Given the description of an element on the screen output the (x, y) to click on. 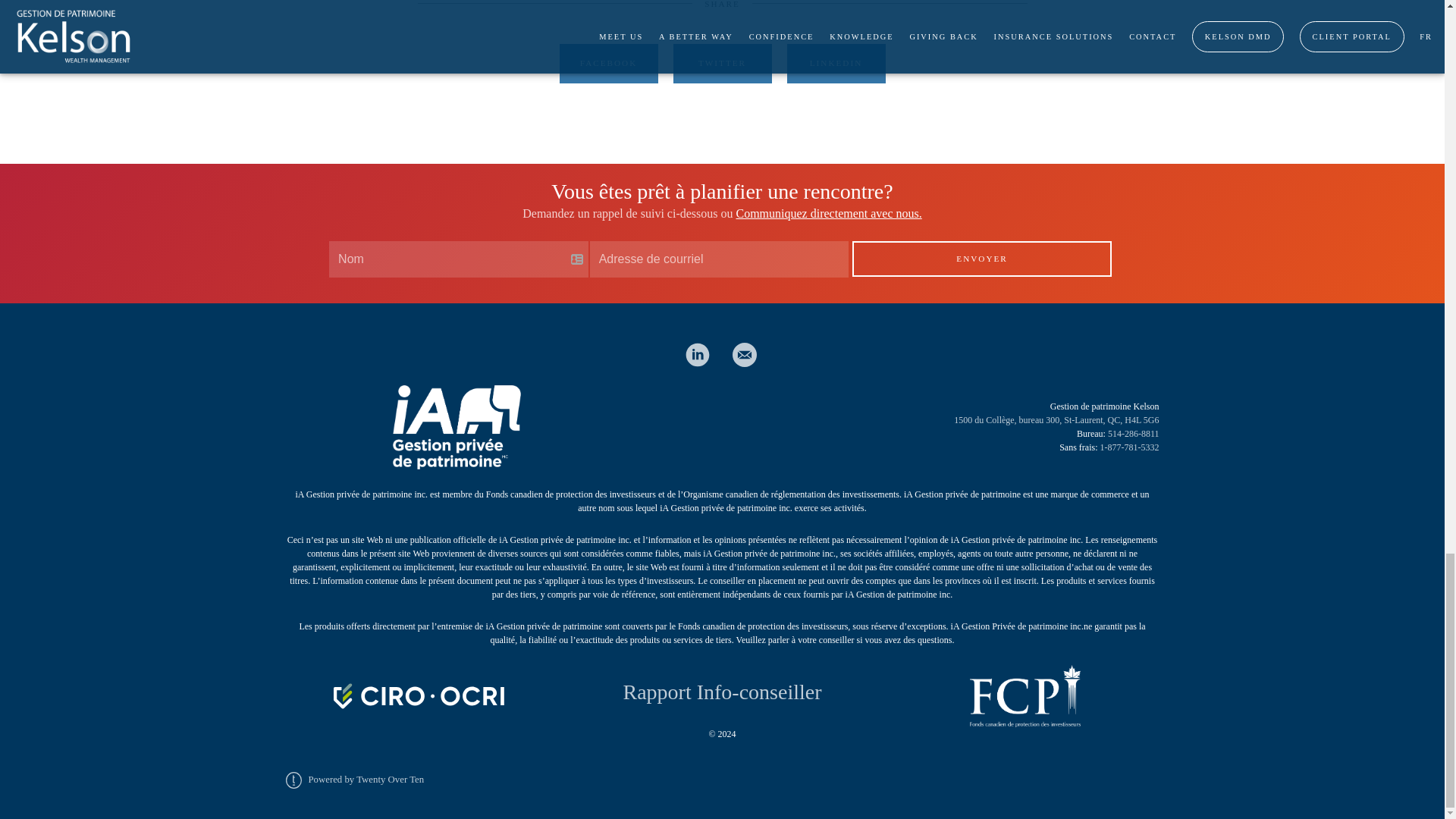
LINKEDIN (836, 63)
ENVOYER (981, 258)
1-877-781-5332 (1128, 447)
FACEBOOK (608, 63)
514-286-8811 (1133, 433)
TWITTER (722, 63)
